Given the description of an element on the screen output the (x, y) to click on. 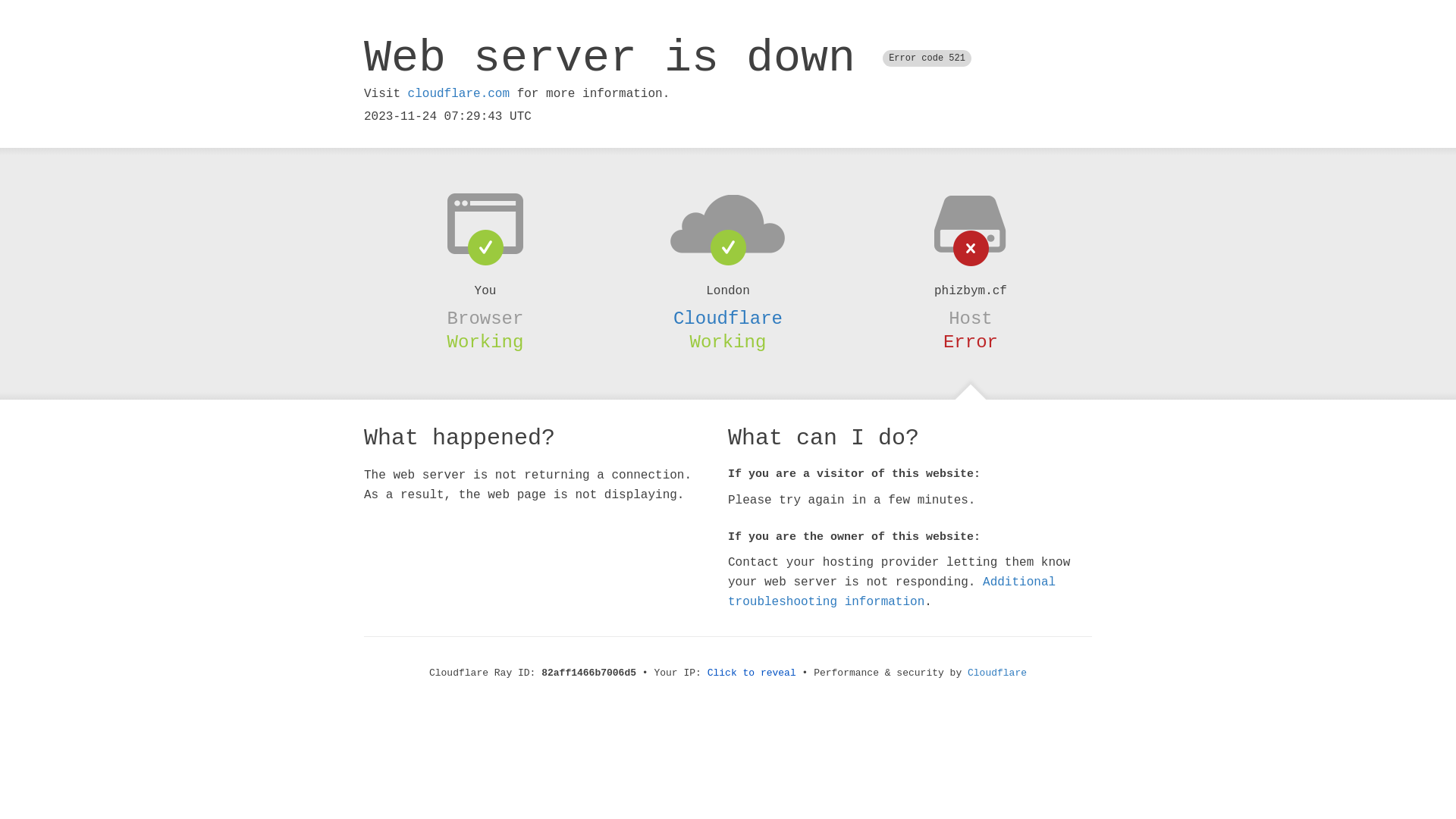
Cloudflare Element type: text (996, 672)
Additional troubleshooting information Element type: text (891, 591)
Click to reveal Element type: text (751, 672)
cloudflare.com Element type: text (458, 93)
Cloudflare Element type: text (727, 318)
